Given the description of an element on the screen output the (x, y) to click on. 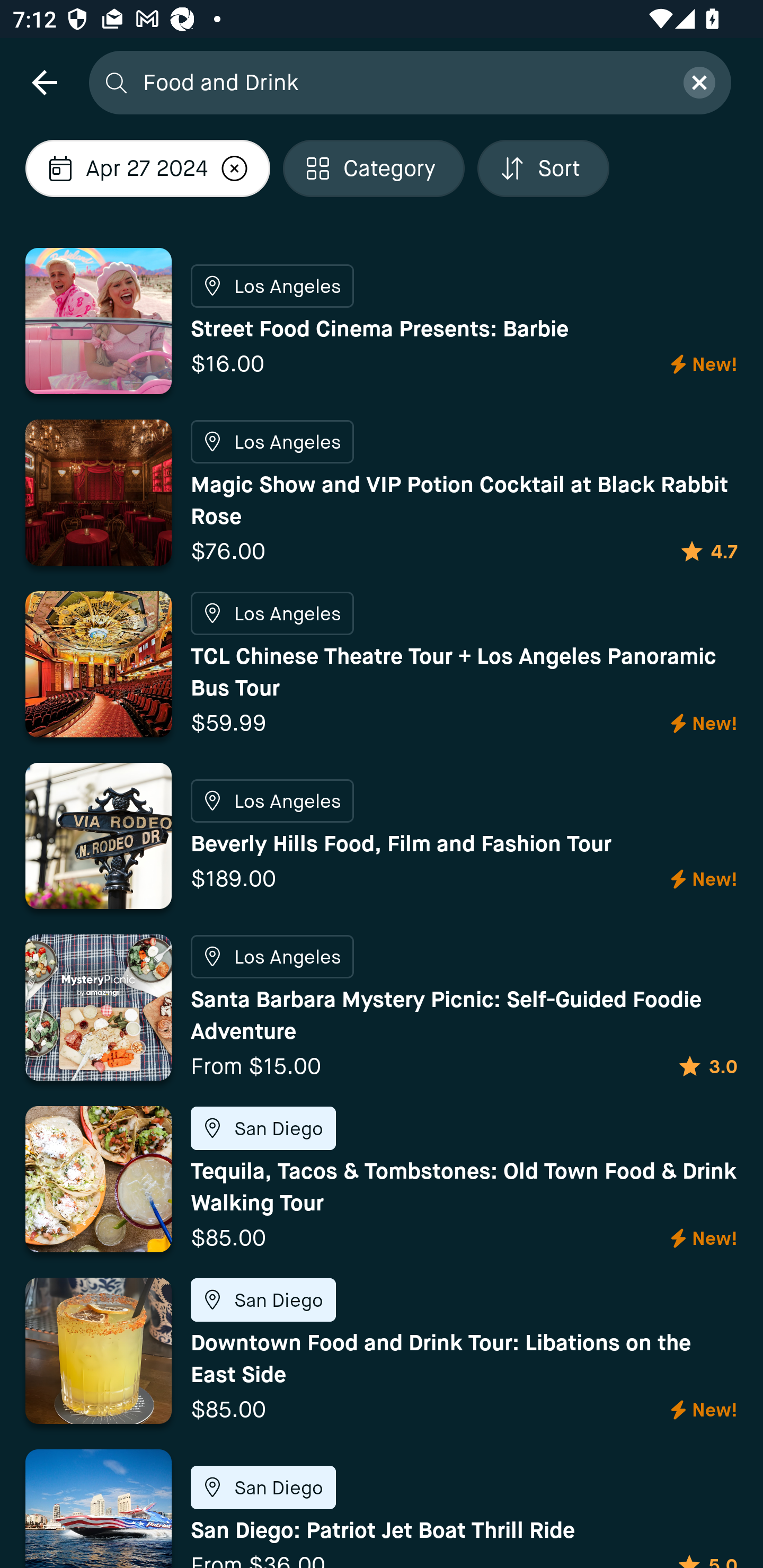
navigation icon (44, 81)
Food and Drink (402, 81)
Localized description (234, 168)
Localized description Category (373, 168)
Localized description Sort (543, 168)
